Given the description of an element on the screen output the (x, y) to click on. 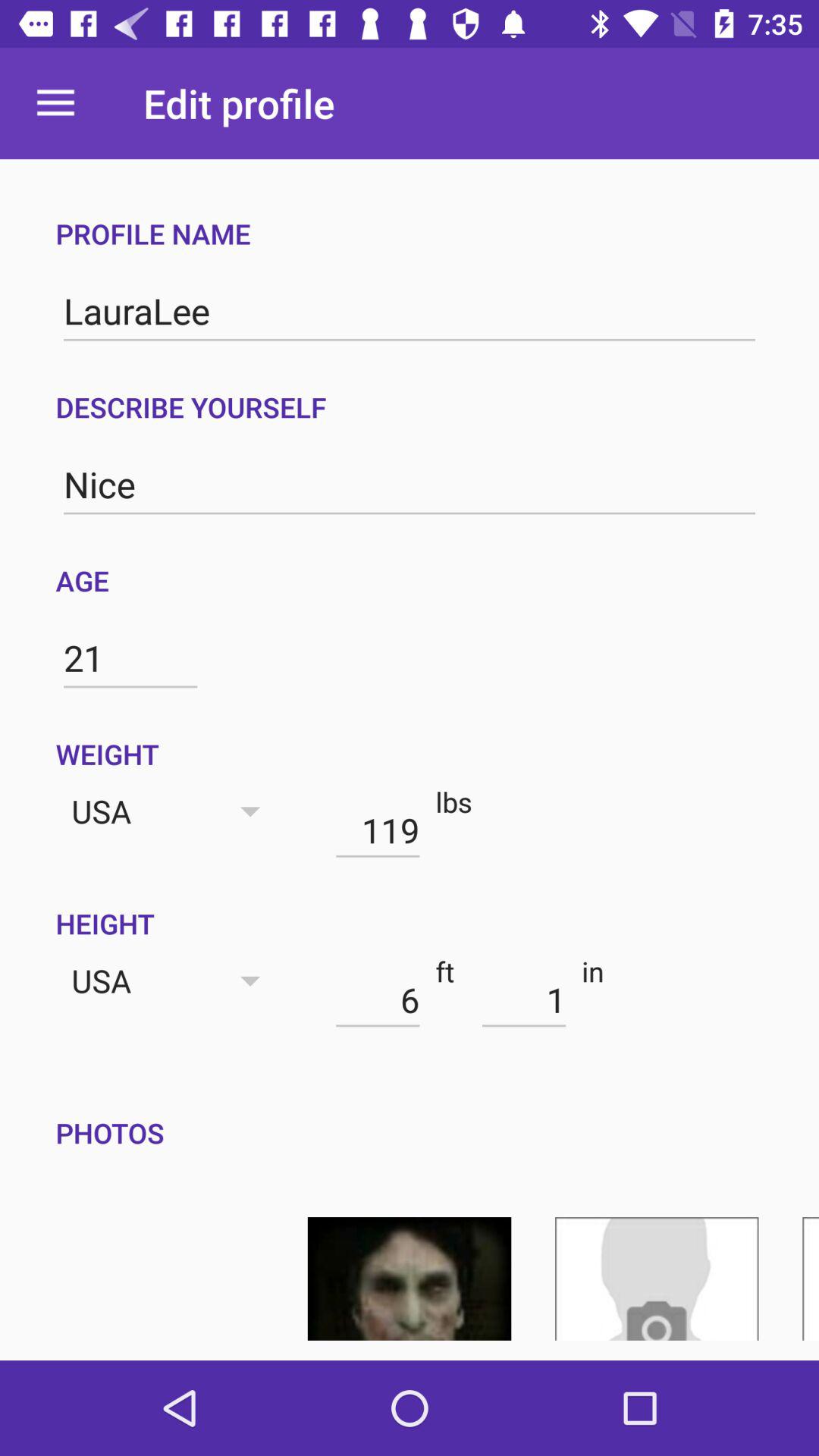
launch the 6 icon (377, 999)
